Given the description of an element on the screen output the (x, y) to click on. 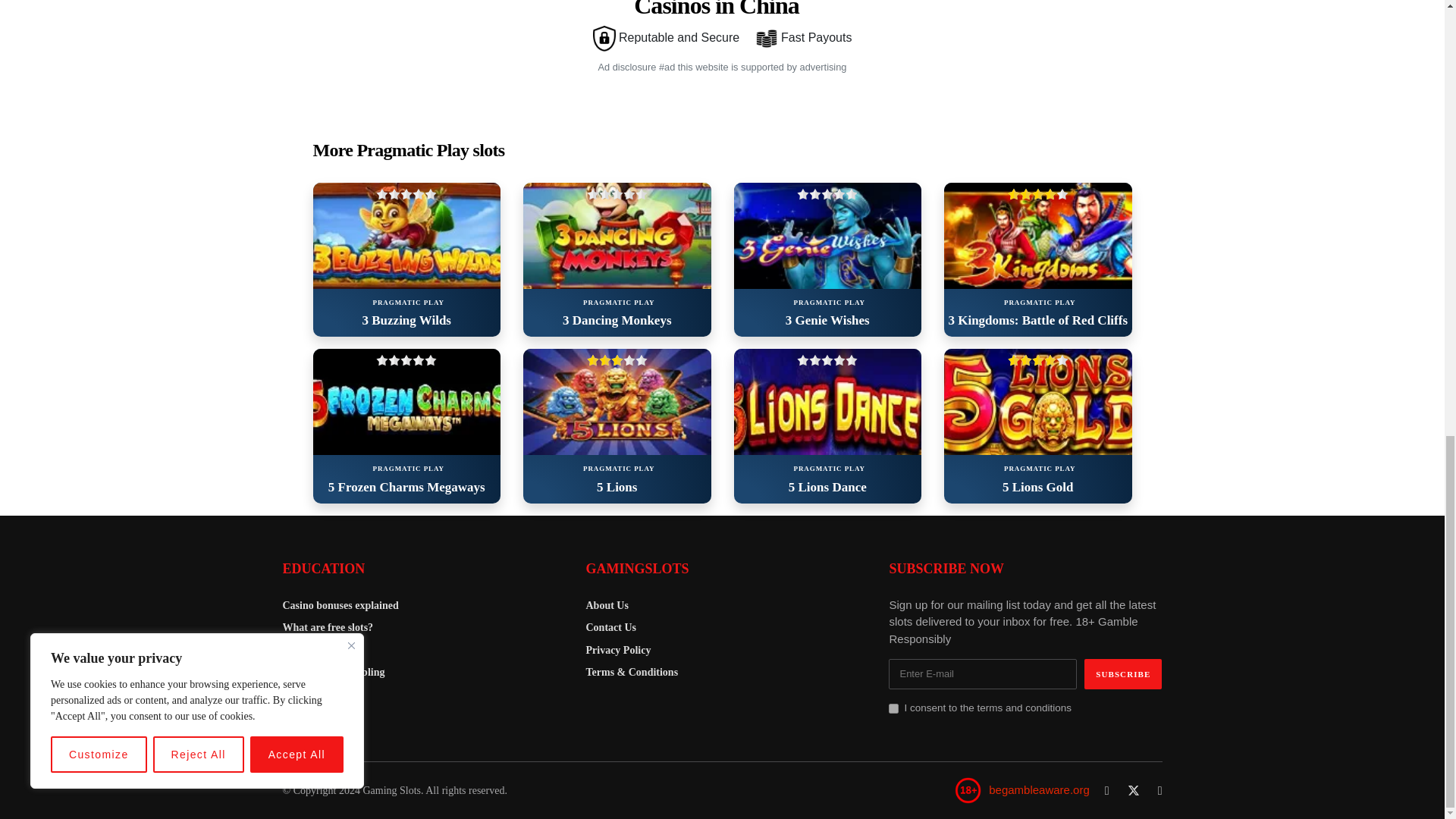
3 Genie Wishes slot (827, 235)
3 Buzzing Wilds slot (406, 235)
Subscribe (1122, 674)
3 Kingdoms: Battle of Red Cliffs slot (1037, 235)
3 Dancing Monkeys slot (616, 235)
1 (893, 708)
